Given the description of an element on the screen output the (x, y) to click on. 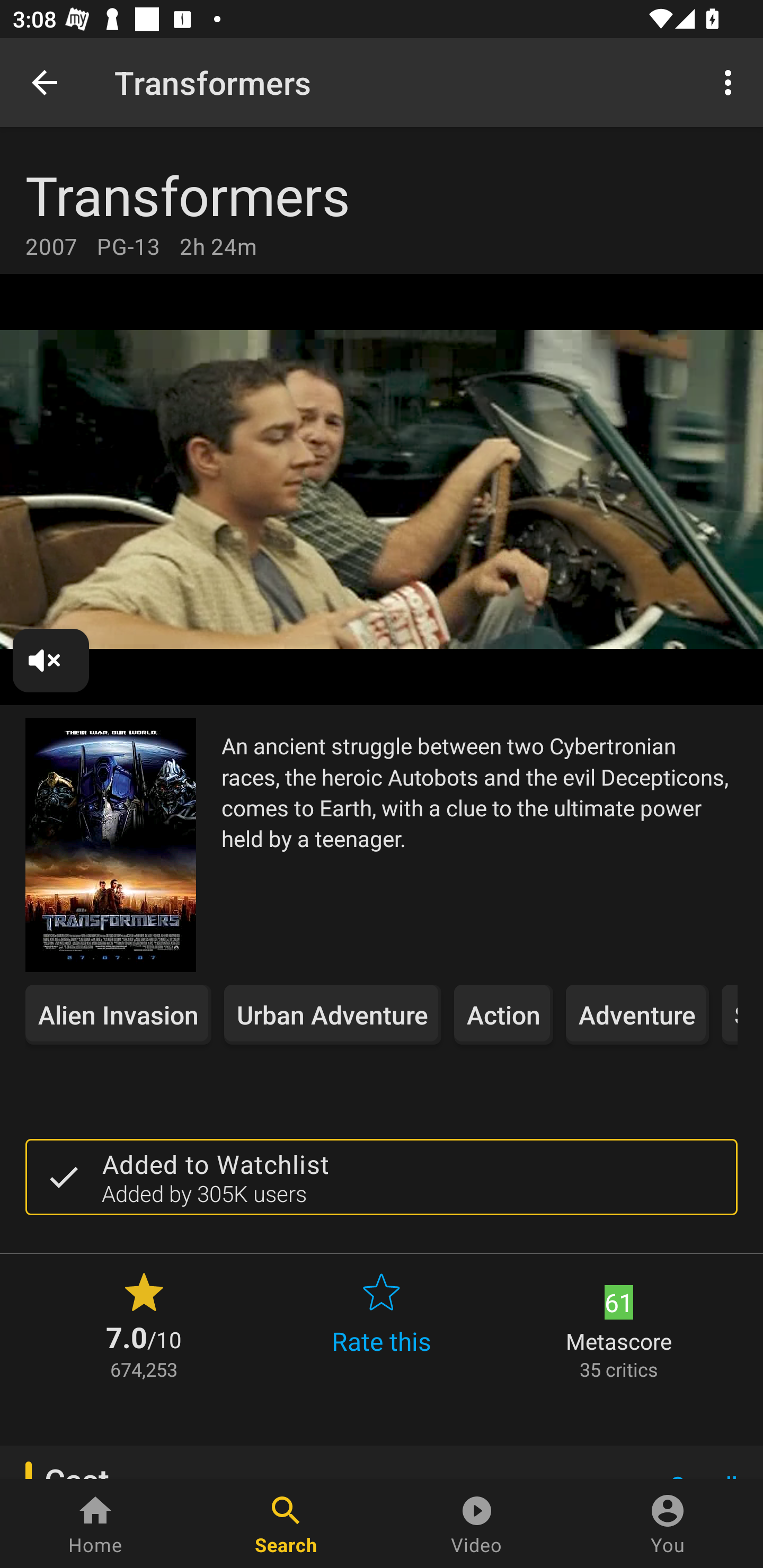
More options (731, 81)
Alien Invasion (118, 1014)
Urban Adventure (332, 1014)
Action (503, 1014)
Adventure (637, 1014)
Added to Watchlist Added by 305K users (381, 1176)
7.0 /10 674,253 (143, 1323)
Rate this (381, 1323)
61 Metascore 35 critics (618, 1323)
Home (95, 1523)
Video (476, 1523)
You (667, 1523)
